Given the description of an element on the screen output the (x, y) to click on. 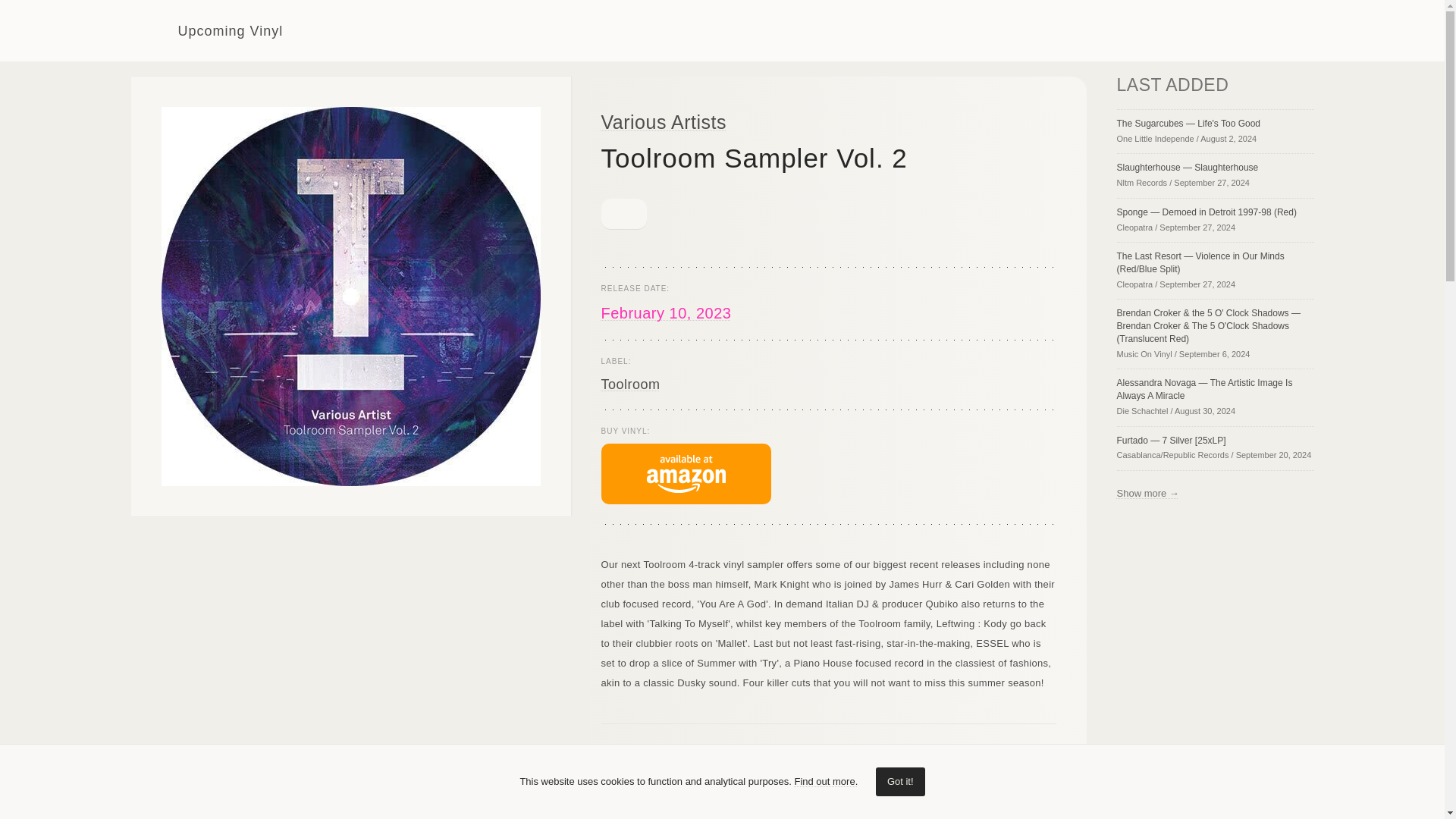
Various Artists (662, 121)
Sign in or create account (1199, 30)
Add to favourites (622, 214)
Upcoming Vinyl (206, 30)
February 10, 2023 (664, 312)
Toolroom (629, 383)
